Given the description of an element on the screen output the (x, y) to click on. 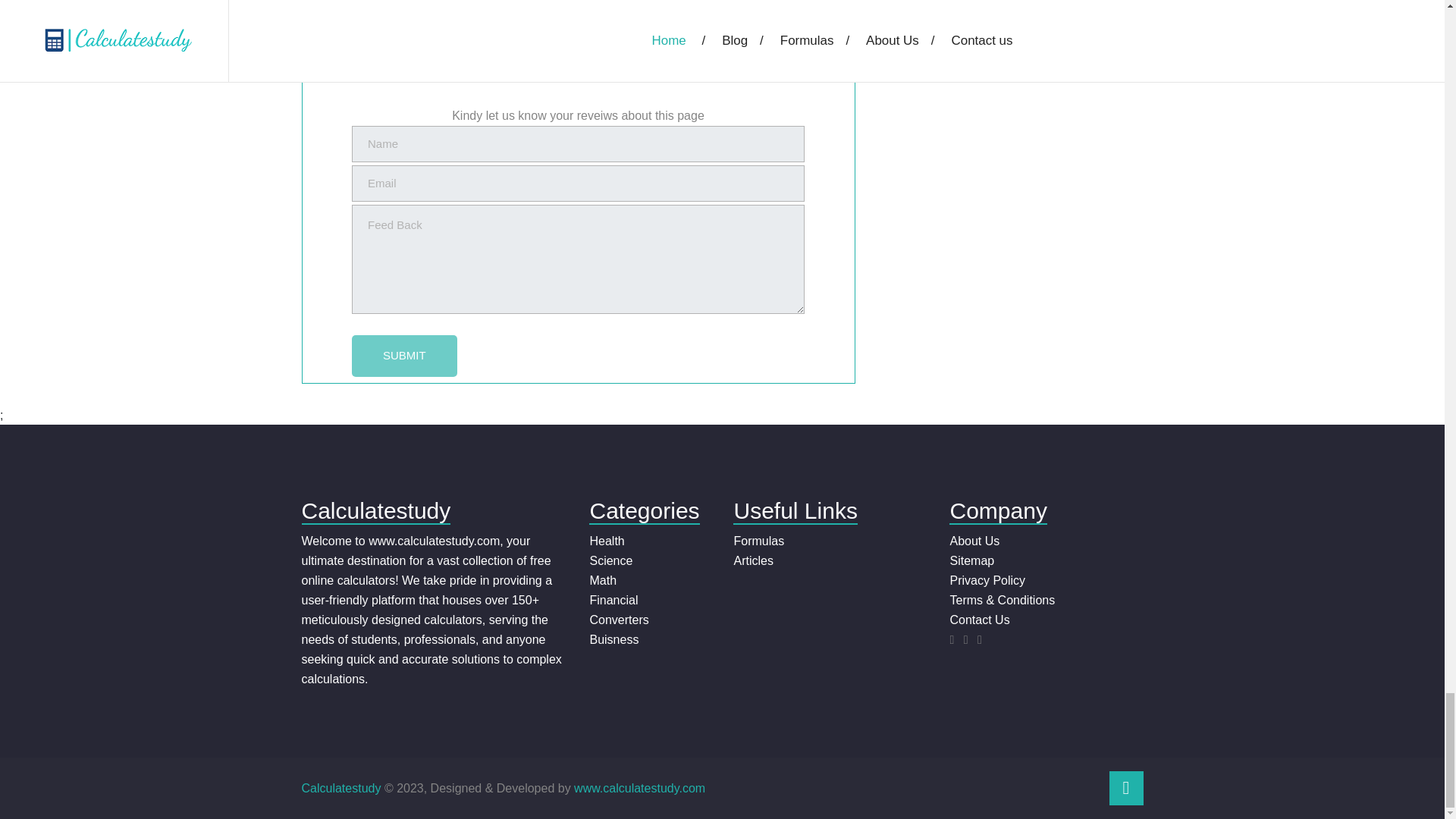
SUBMIT (404, 355)
